Given the description of an element on the screen output the (x, y) to click on. 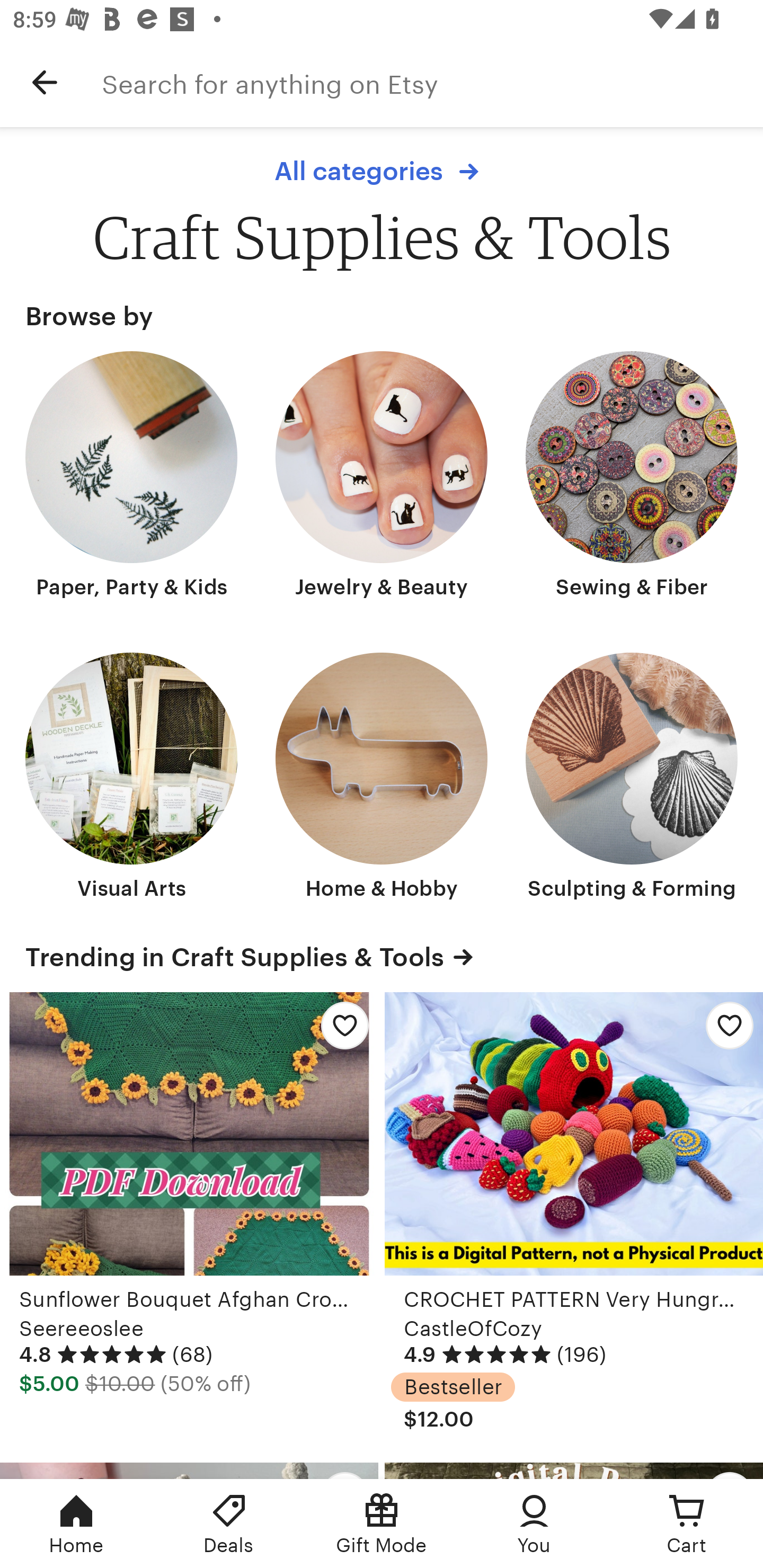
Navigate up (44, 82)
Search for anything on Etsy (432, 82)
All categories (380, 171)
Paper, Party & Kids (131, 476)
Jewelry & Beauty (381, 476)
Sewing & Fiber (631, 476)
Visual Arts (131, 777)
Home & Hobby (381, 777)
Sculpting & Forming (631, 777)
Trending in Craft Supplies & Tools  (381, 956)
Deals (228, 1523)
Gift Mode (381, 1523)
You (533, 1523)
Cart (686, 1523)
